Given the description of an element on the screen output the (x, y) to click on. 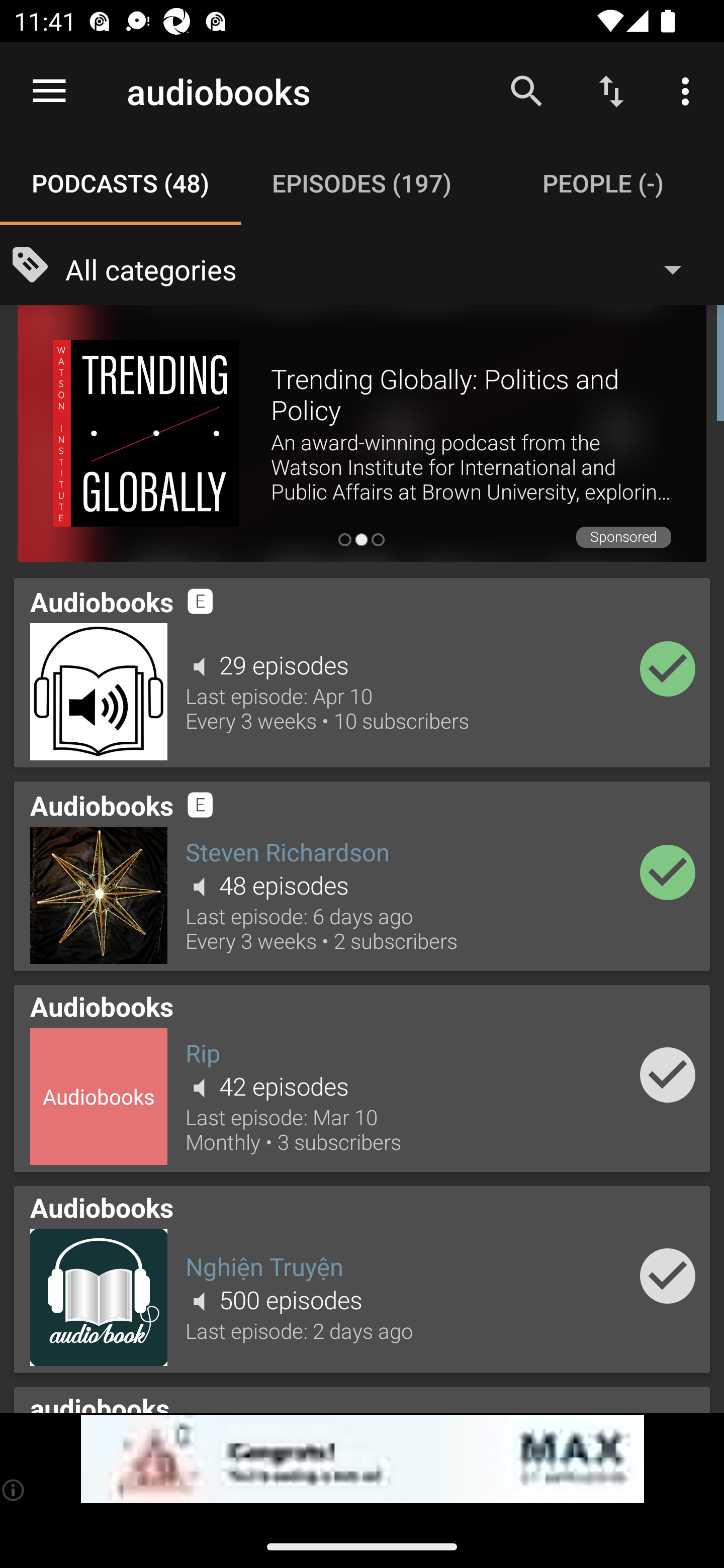
Open navigation sidebar (49, 91)
Search (526, 90)
Sort (611, 90)
More options (688, 90)
Episodes (197) EPISODES (197) (361, 183)
People (-) PEOPLE (-) (603, 183)
All categories (383, 268)
Add (667, 669)
Add (667, 871)
Add (667, 1074)
Add (667, 1276)
app-monetization (362, 1459)
(i) (14, 1489)
